Given the description of an element on the screen output the (x, y) to click on. 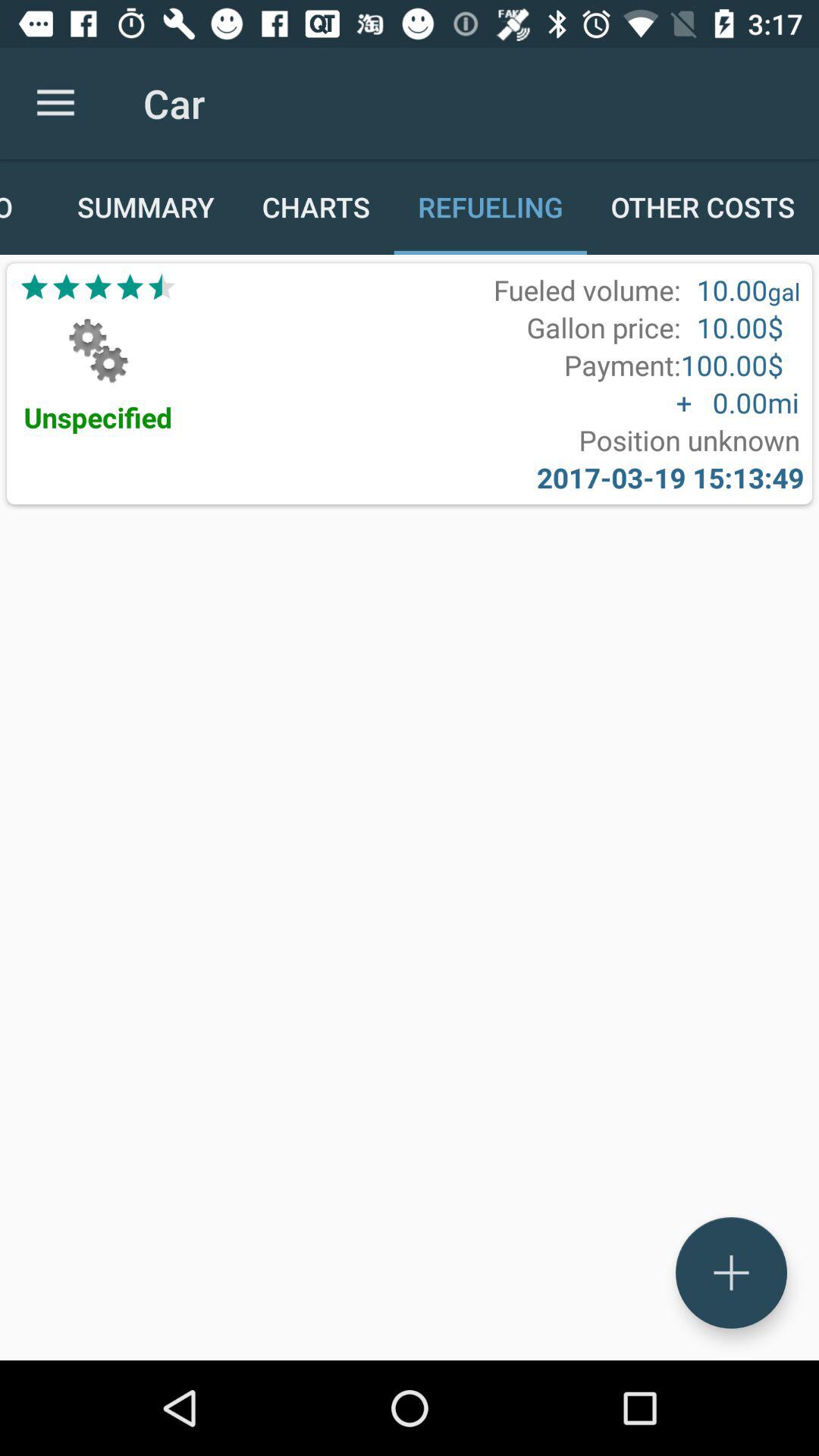
select icon above the info (55, 103)
